Given the description of an element on the screen output the (x, y) to click on. 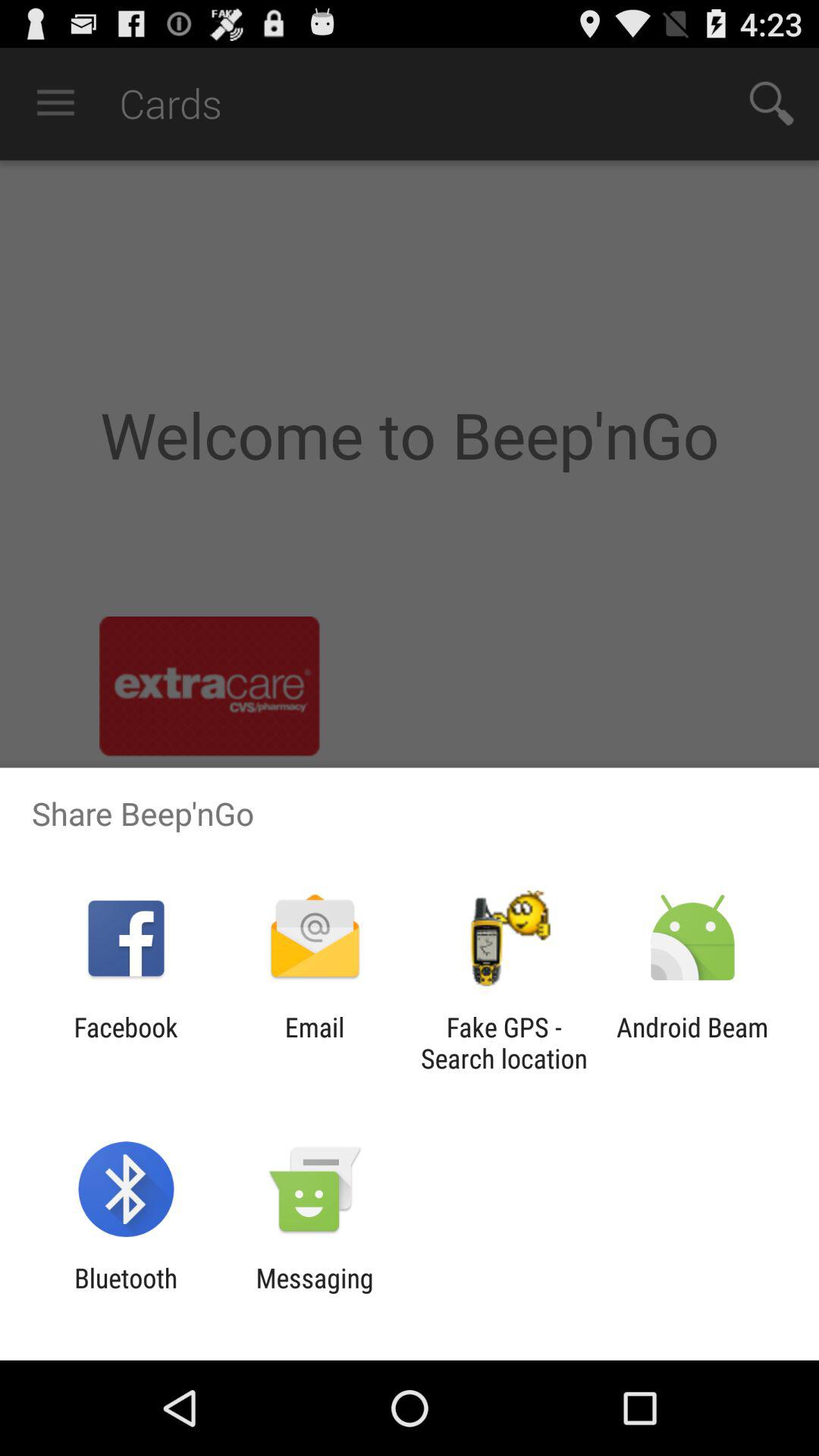
open icon next to android beam (503, 1042)
